Given the description of an element on the screen output the (x, y) to click on. 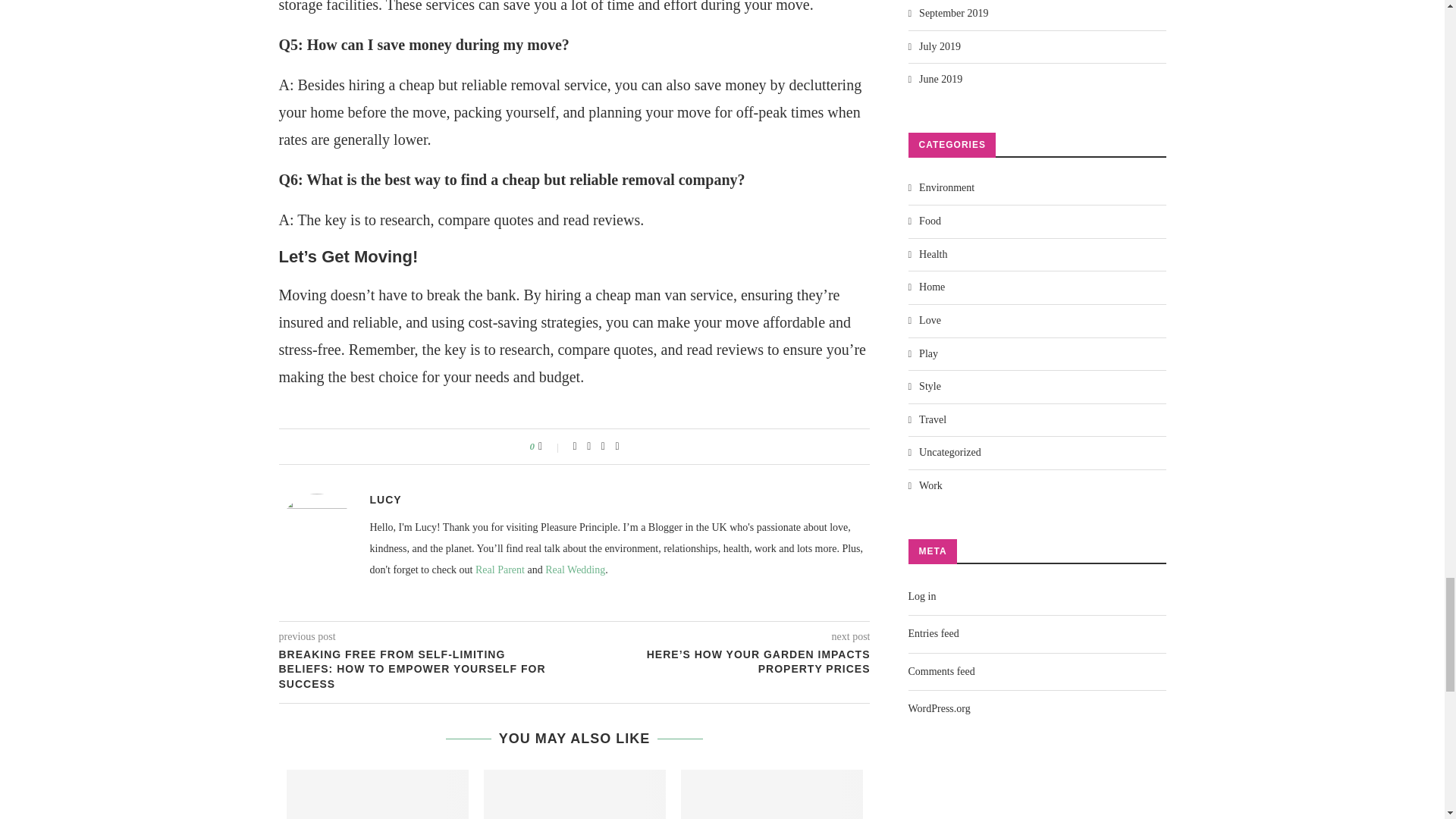
Posts by Lucy (385, 499)
Create A Low Maintenance Garden In 5 Easy Steps (377, 794)
3 ways to make your own party decorations (574, 794)
Like (550, 445)
